Given the description of an element on the screen output the (x, y) to click on. 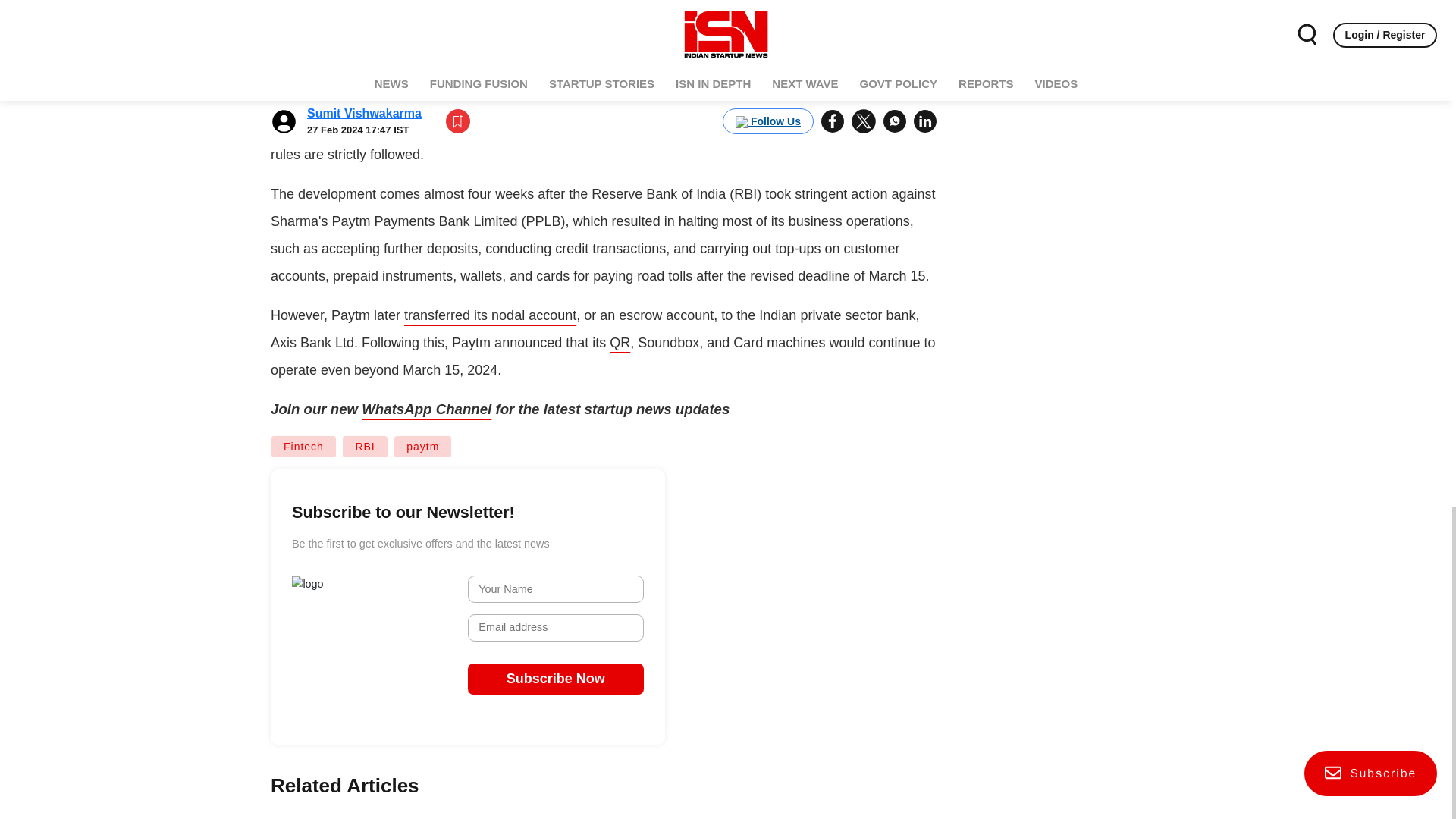
QR (620, 342)
paytm (422, 445)
WhatsApp Channel (426, 408)
Fintech (303, 445)
RBI (364, 445)
transferred its nodal account (490, 314)
